Given the description of an element on the screen output the (x, y) to click on. 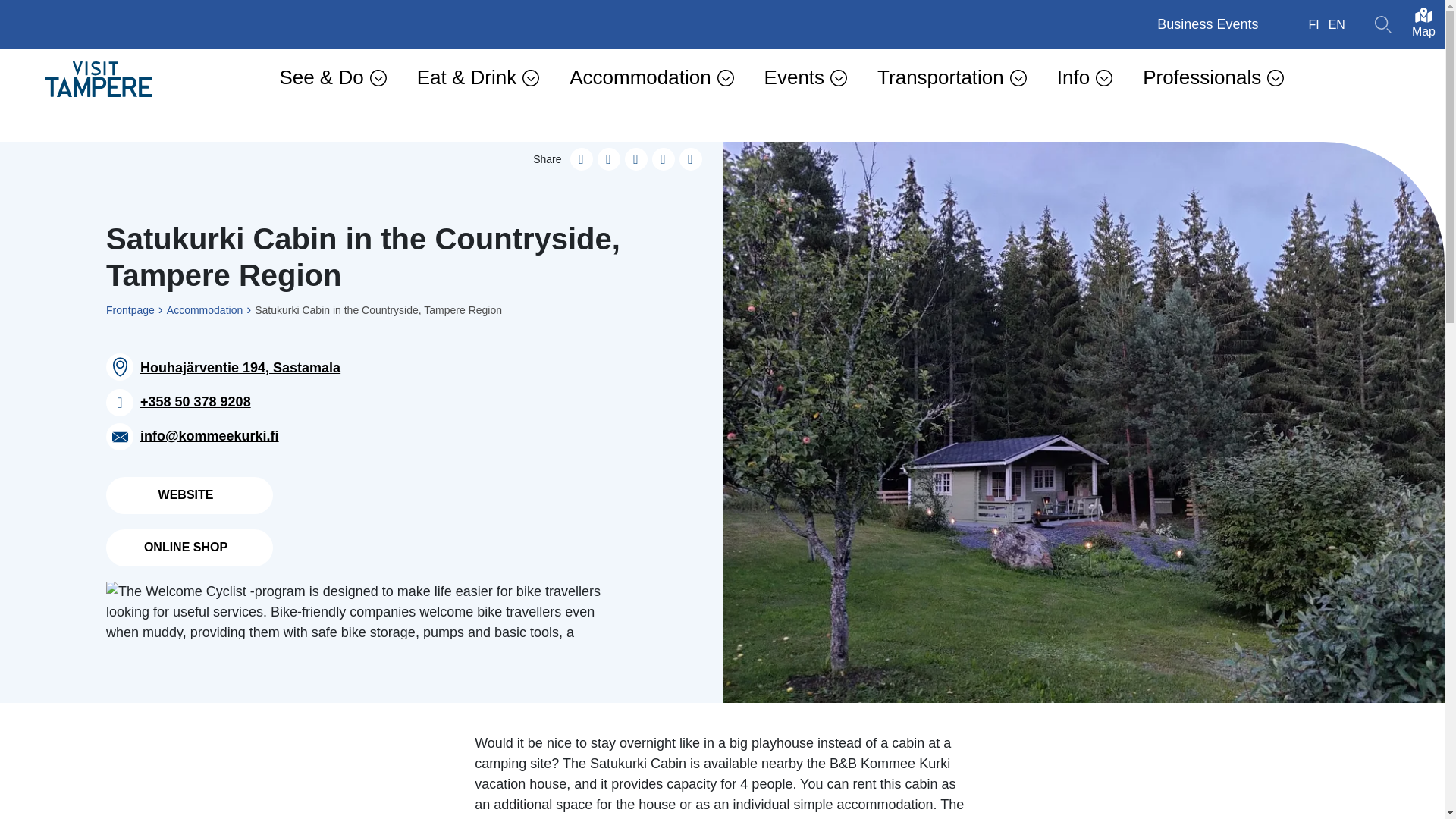
FI (1313, 24)
Business Events (1207, 23)
EN (1336, 24)
Accommodation (651, 76)
Map (1423, 23)
Search (1383, 23)
